Given the description of an element on the screen output the (x, y) to click on. 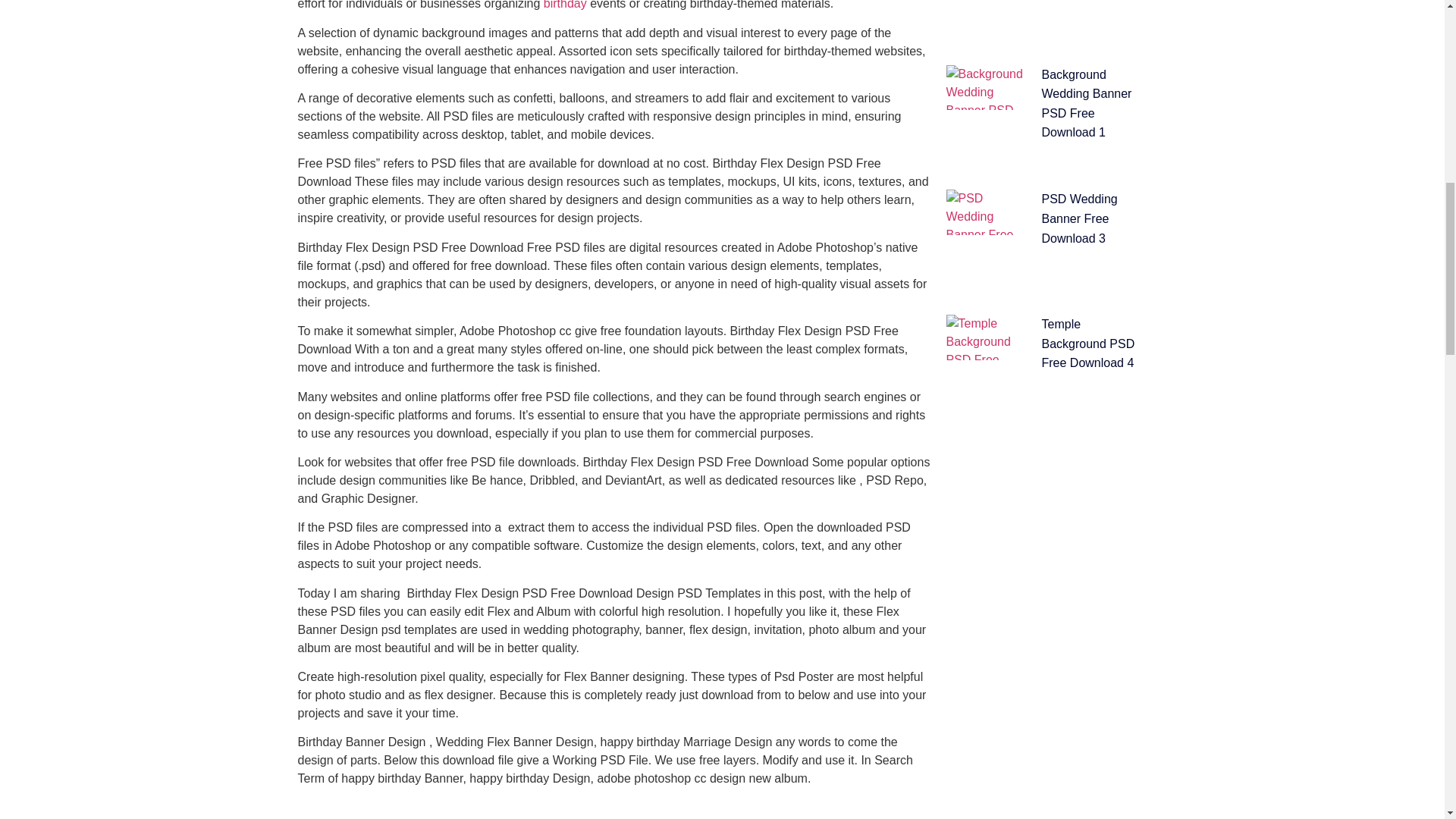
birthday (564, 4)
Temple Background PSD Free Download 4 (1088, 343)
PSD Wedding Banner Free Download 3 (1080, 218)
Background Wedding Banner PSD Free Download 1 (1087, 103)
